Given the description of an element on the screen output the (x, y) to click on. 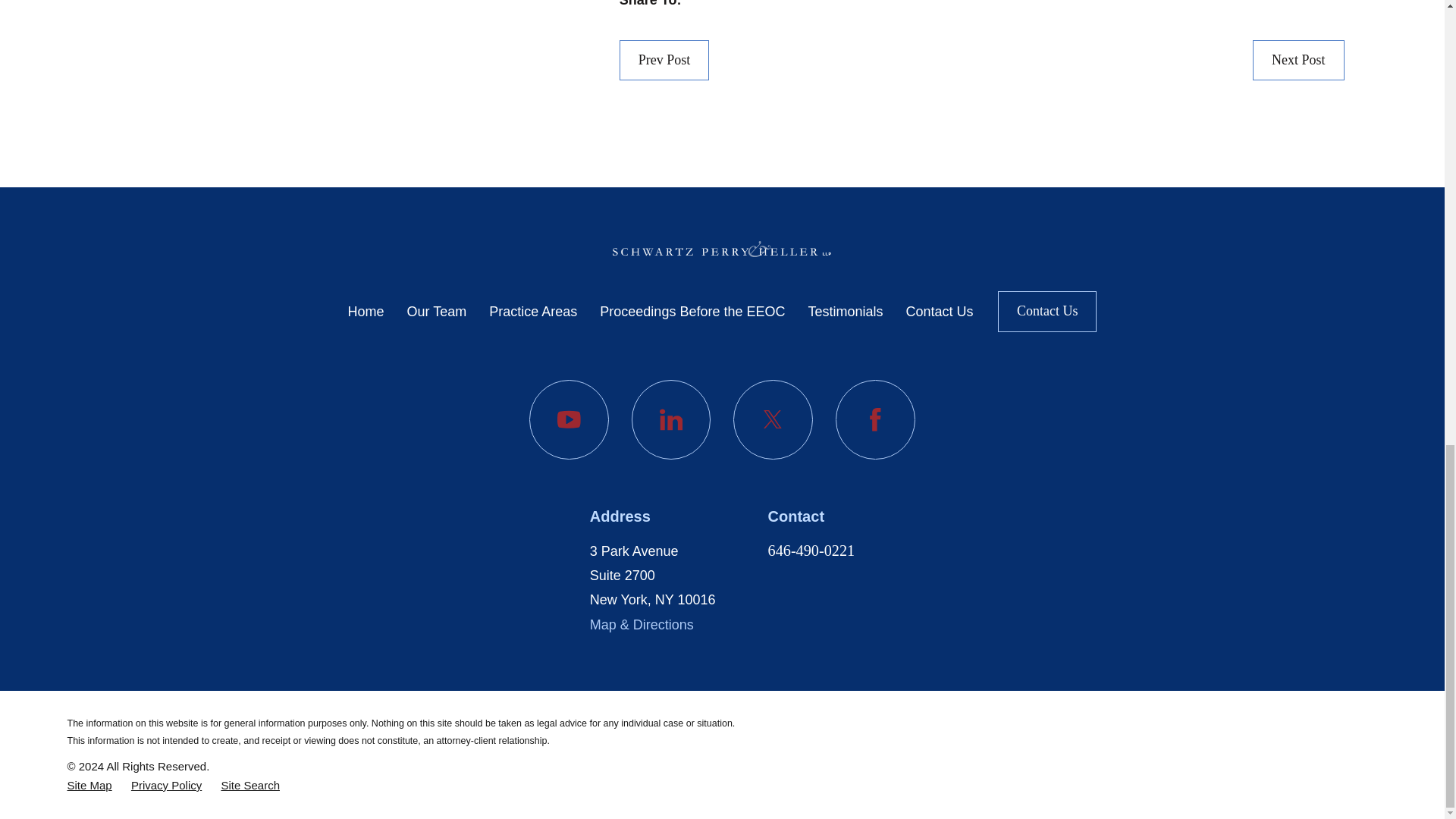
YouTube (568, 419)
LinkedIn (671, 419)
Twitter (772, 419)
Home (721, 248)
